Given the description of an element on the screen output the (x, y) to click on. 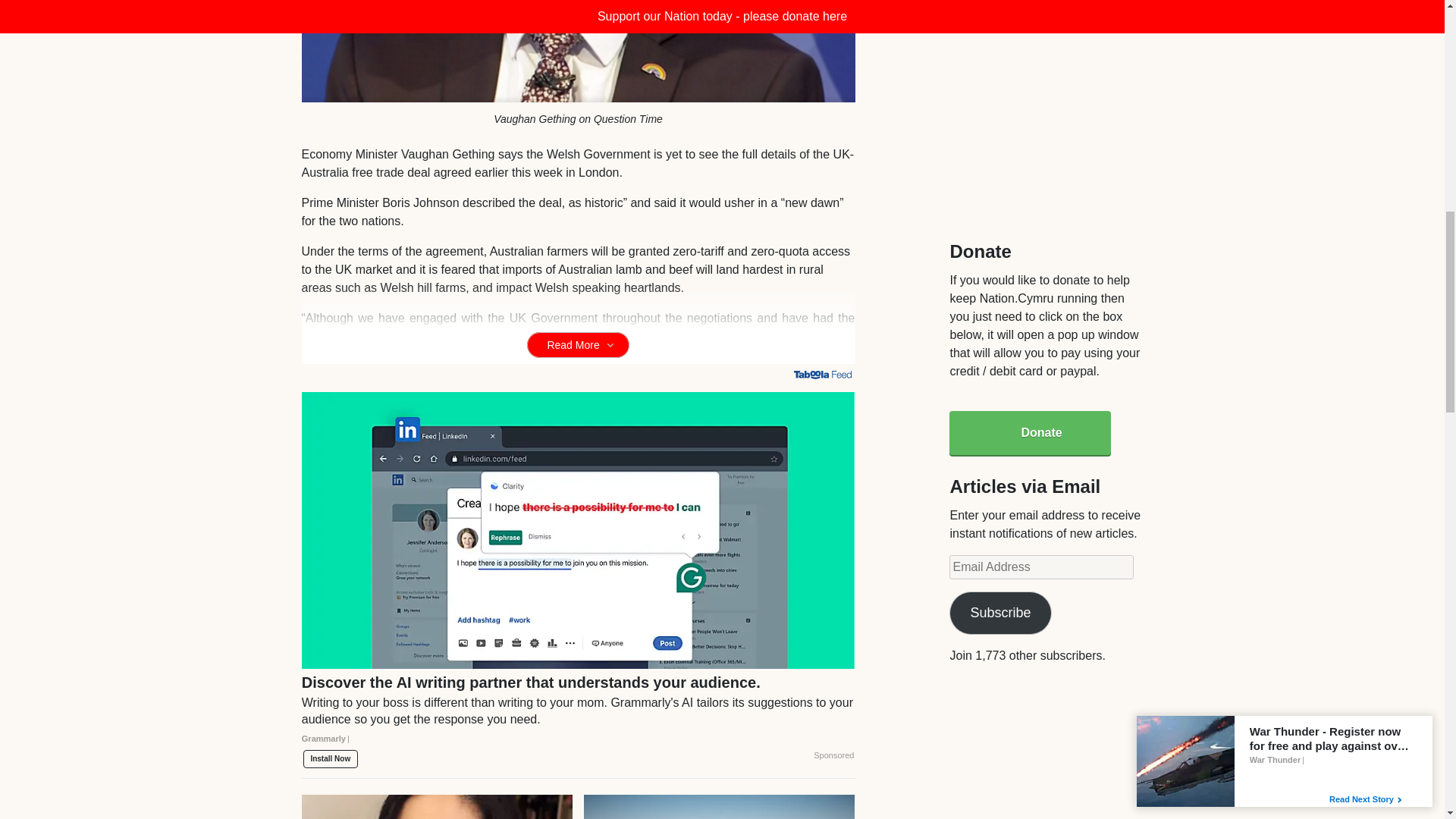
Read More (577, 344)
Sponsored (833, 756)
Install Now (330, 759)
